Given the description of an element on the screen output the (x, y) to click on. 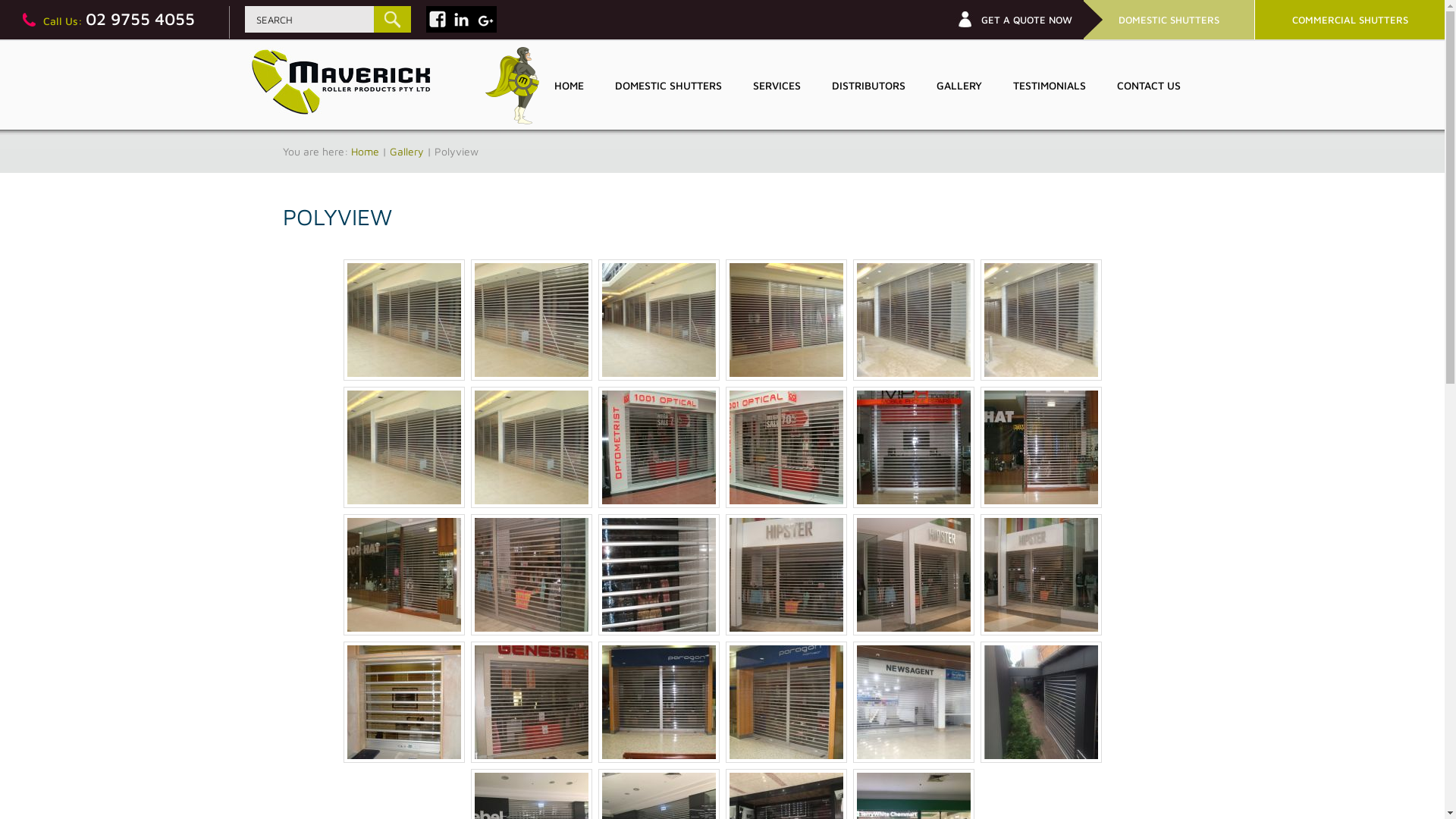
CONTACT US Element type: text (1148, 84)
SERVICES Element type: text (776, 84)
Gallery Element type: text (406, 150)
HOME Element type: text (568, 84)
DOMESTIC SHUTTERS Element type: text (668, 84)
GALLERY Element type: text (958, 84)
02 9755 4055 Element type: text (139, 18)
DOMESTIC SHUTTERS Element type: text (1168, 19)
DISTRIBUTORS Element type: text (867, 84)
TESTIMONIALS Element type: text (1049, 84)
Home Element type: text (364, 150)
GET A QUOTE NOW Element type: text (1026, 19)
COMMERCIAL SHUTTERS Element type: text (1349, 19)
